Given the description of an element on the screen output the (x, y) to click on. 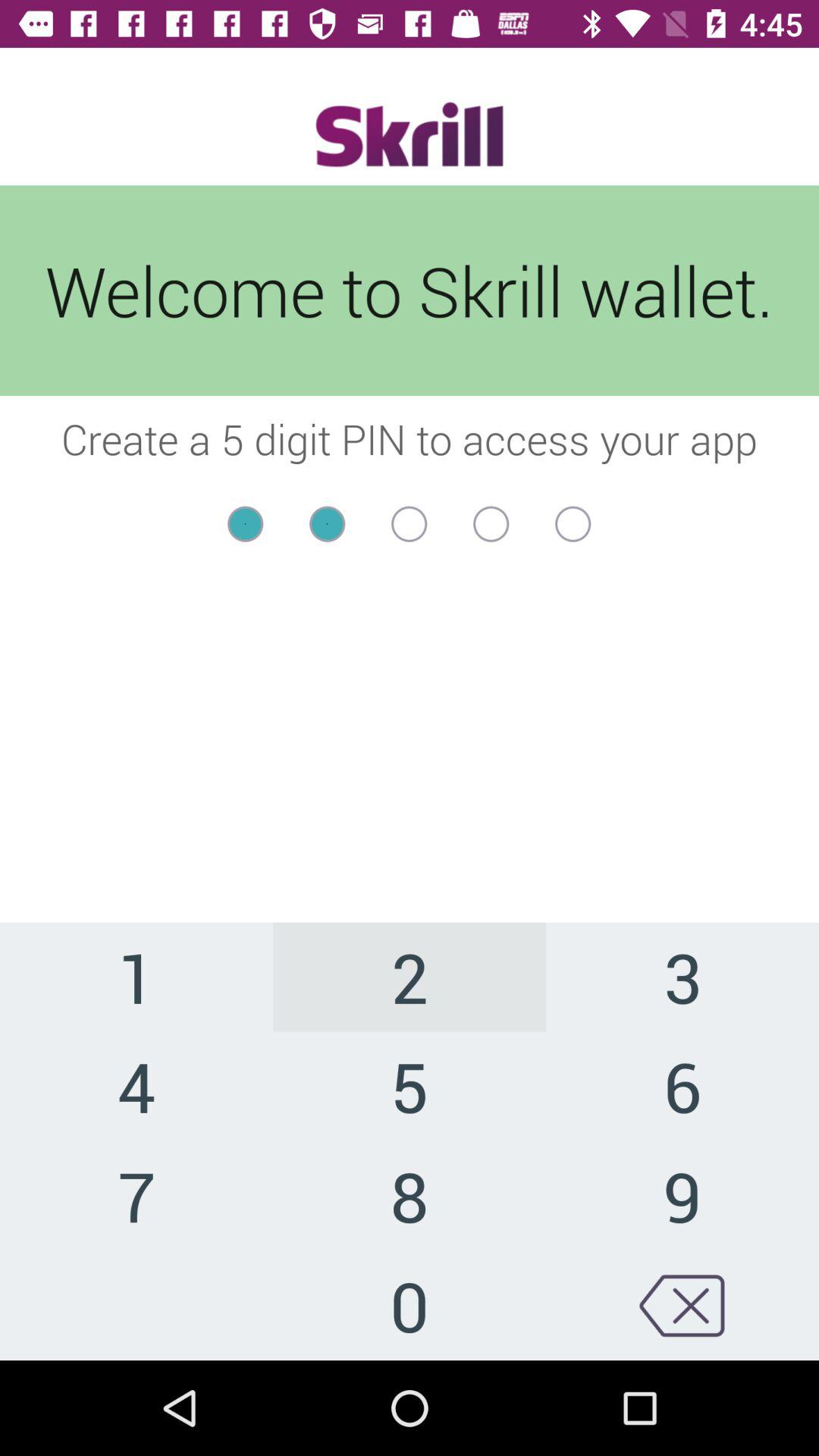
turn on the 9 item (682, 1195)
